Given the description of an element on the screen output the (x, y) to click on. 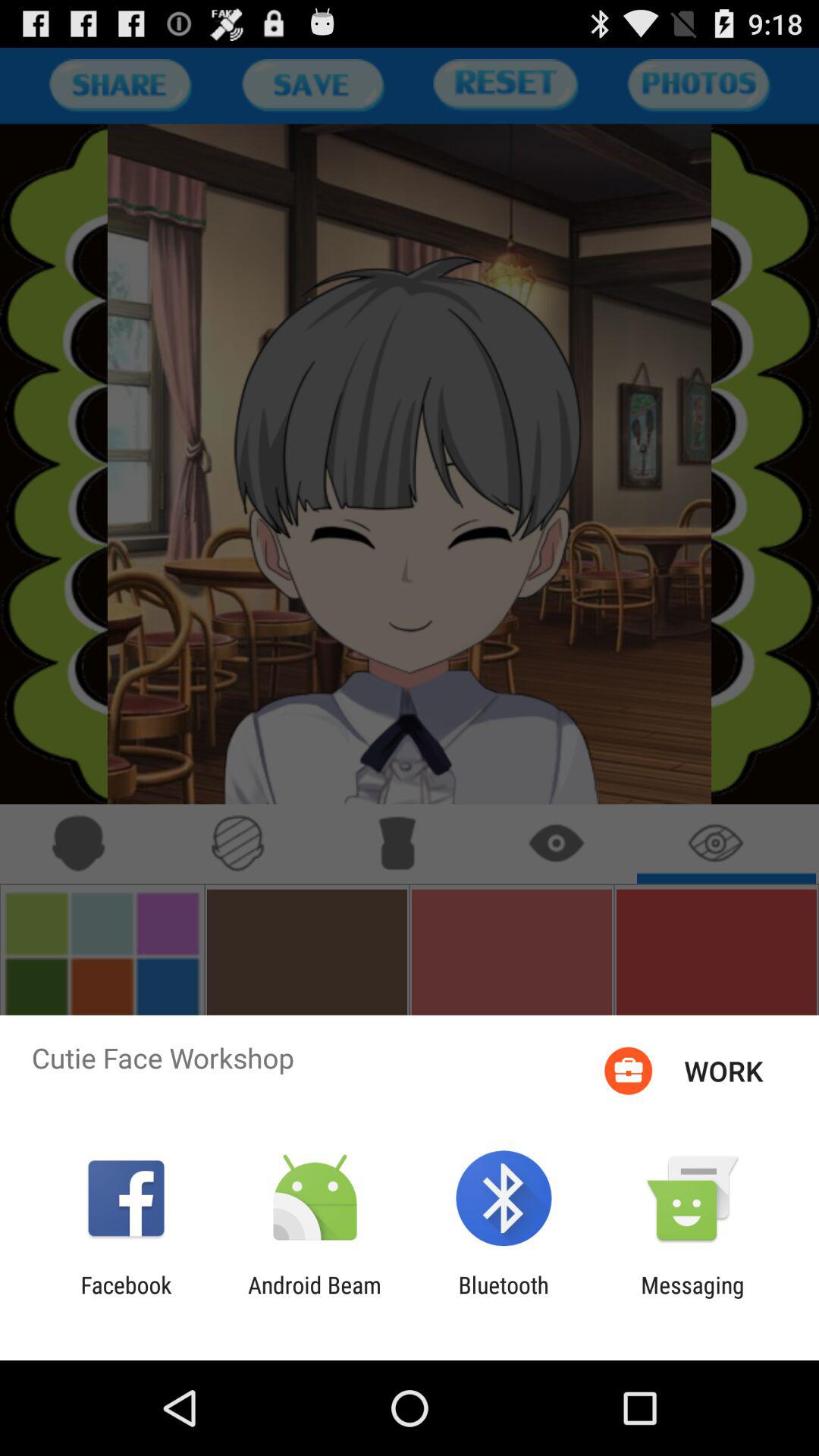
open the app next to the android beam app (125, 1298)
